Given the description of an element on the screen output the (x, y) to click on. 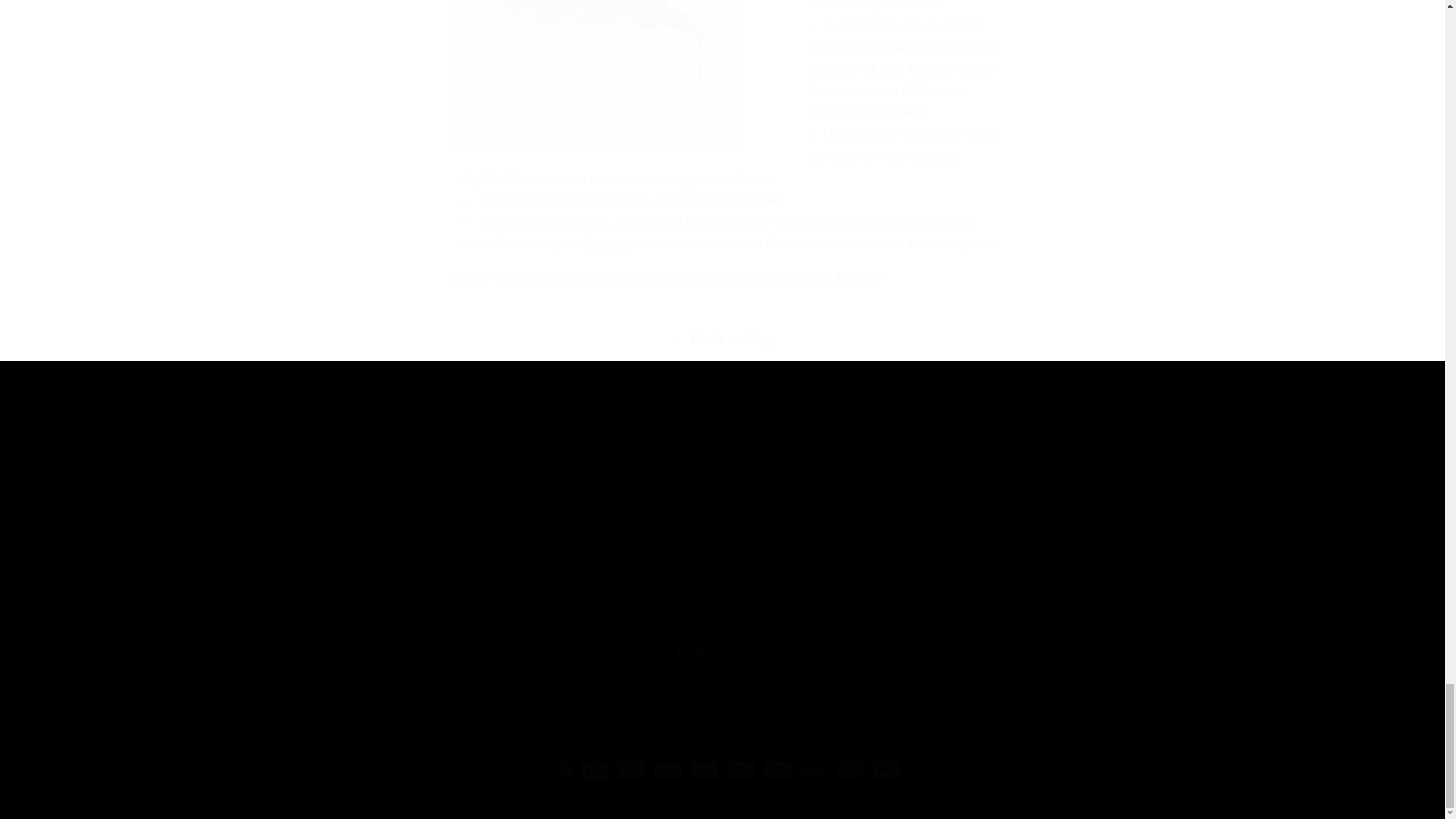
Sriracha (607, 243)
Facebook (312, 489)
Bushwick Kitchen (441, 527)
Instagram (828, 277)
Twitter (345, 489)
